Given the description of an element on the screen output the (x, y) to click on. 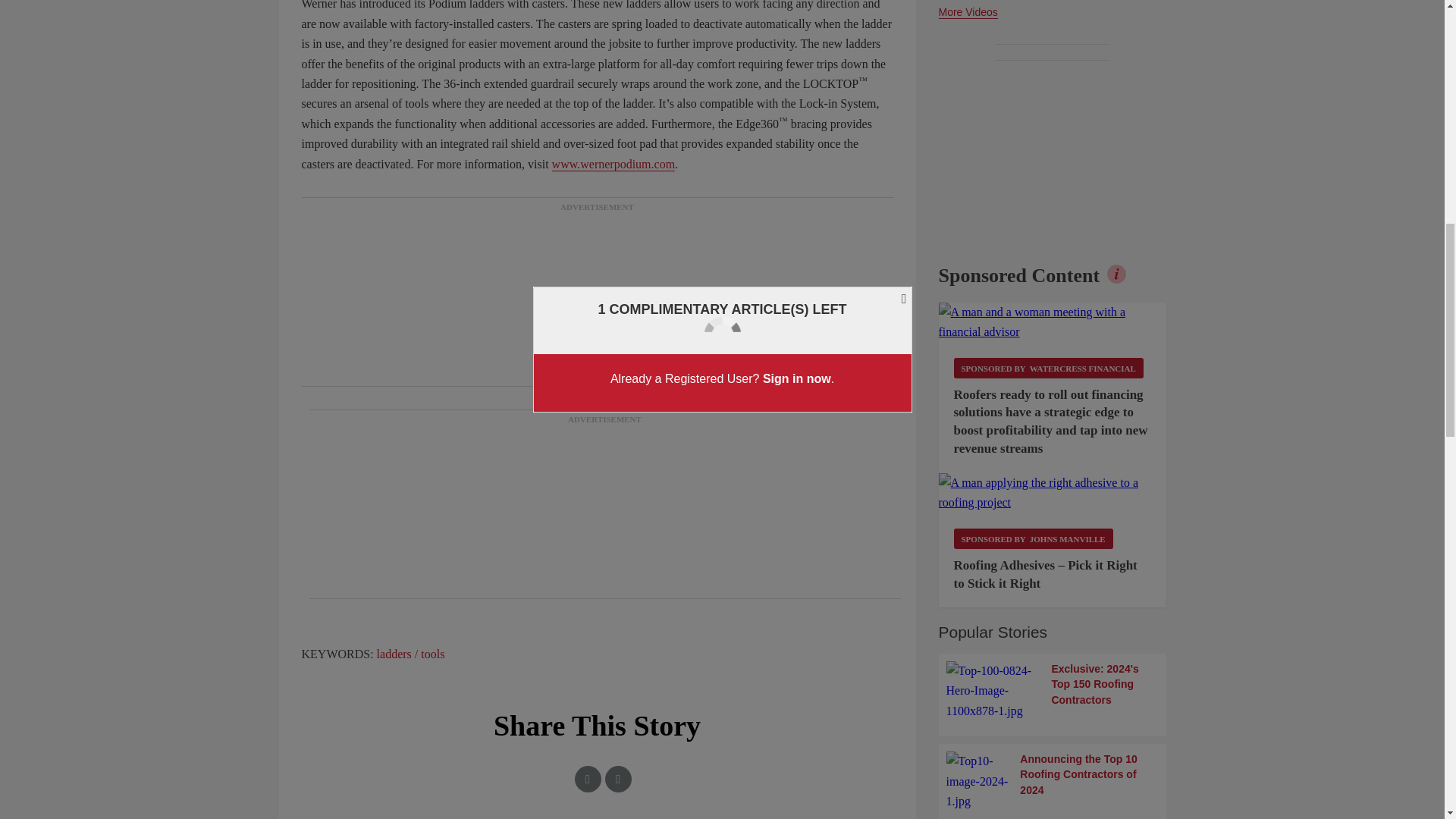
Sponsored by Johns Manville (1033, 538)
Sponsored by Watercress Financial (1047, 367)
Exclusive: 2024's Top 150 Roofing Contractors (1052, 690)
Announcing the Top 10 Roofing Contractors of 2024 (1052, 781)
